Given the description of an element on the screen output the (x, y) to click on. 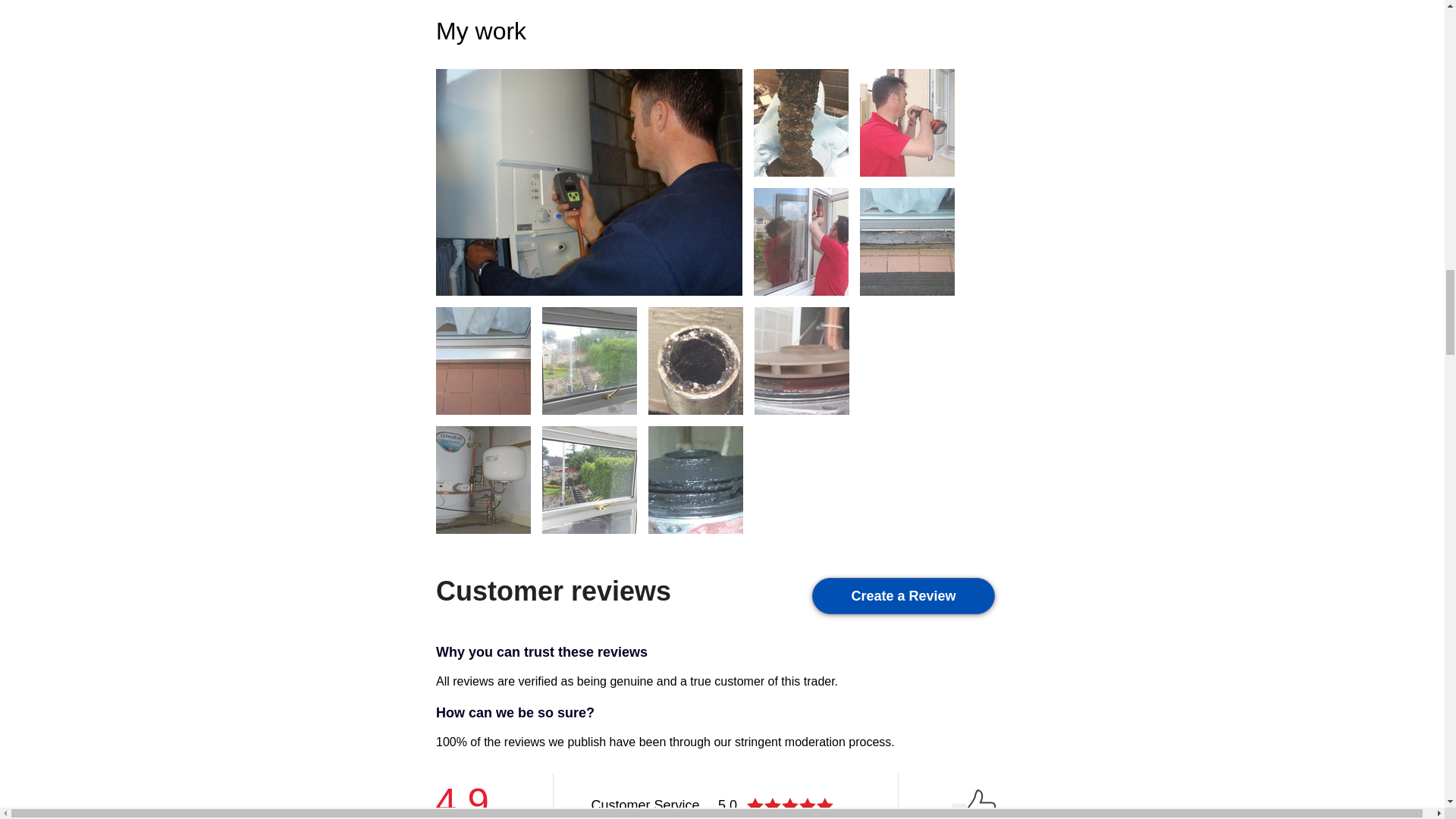
Unvented Cylinder.jpg (483, 479)
4.9523809523809526 (791, 805)
System need a power flush! (694, 359)
New glass unit installed (589, 479)
The Circulation Pump As It Should Be.  (801, 359)
Window Locks Repaired (907, 122)
Magnetic filter. VERY effective! (801, 122)
Water tight aluminium sill cloaking (483, 359)
Window hinges repaired (801, 241)
sludgy pump Needs Power Flushing  (694, 479)
Boiler checks. (588, 181)
Problem with rotting sill (907, 241)
